Given the description of an element on the screen output the (x, y) to click on. 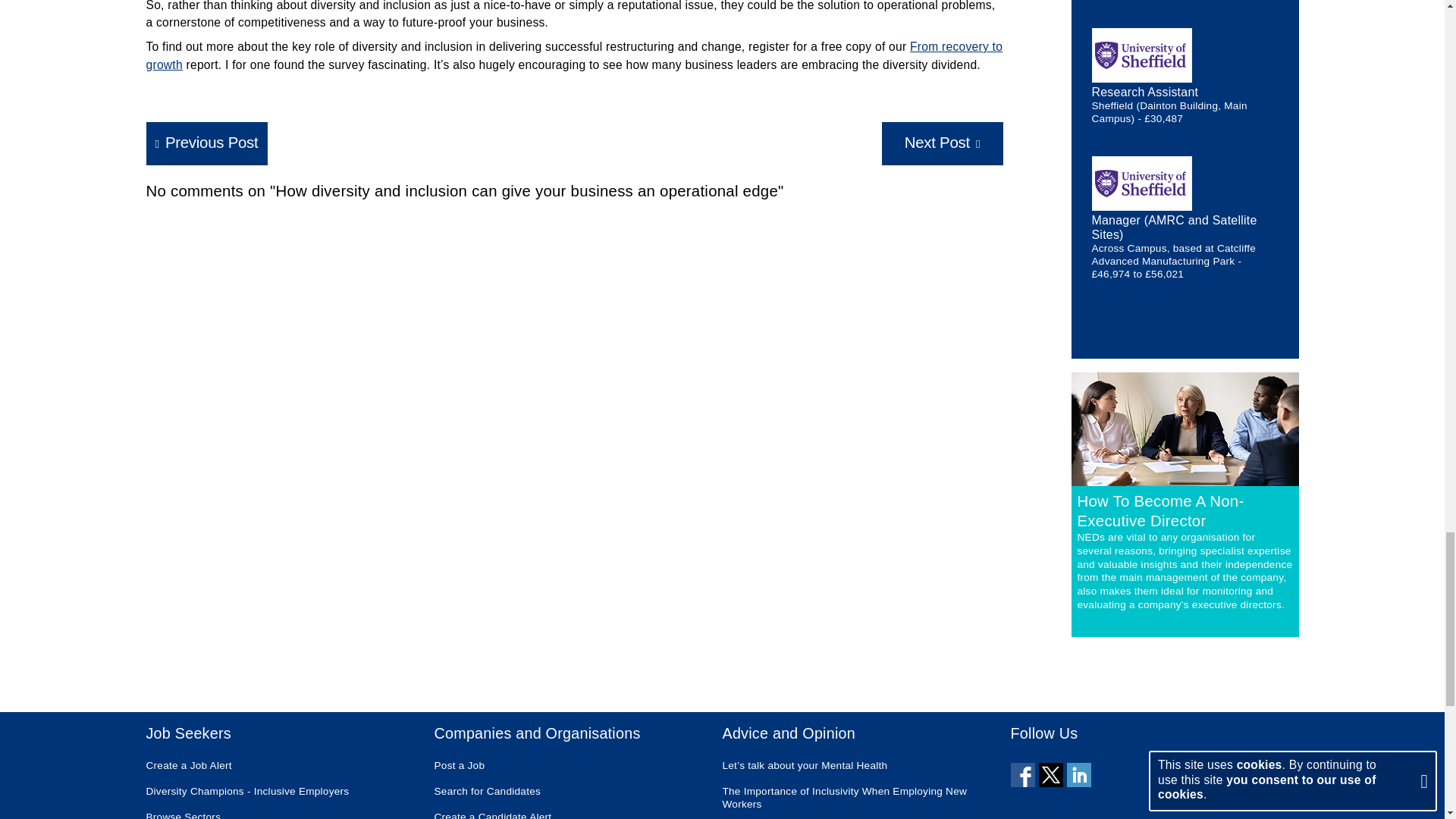
The University of Sheffield (1142, 54)
Research Assistant (1145, 91)
The University of Sheffield (1142, 183)
